Given the description of an element on the screen output the (x, y) to click on. 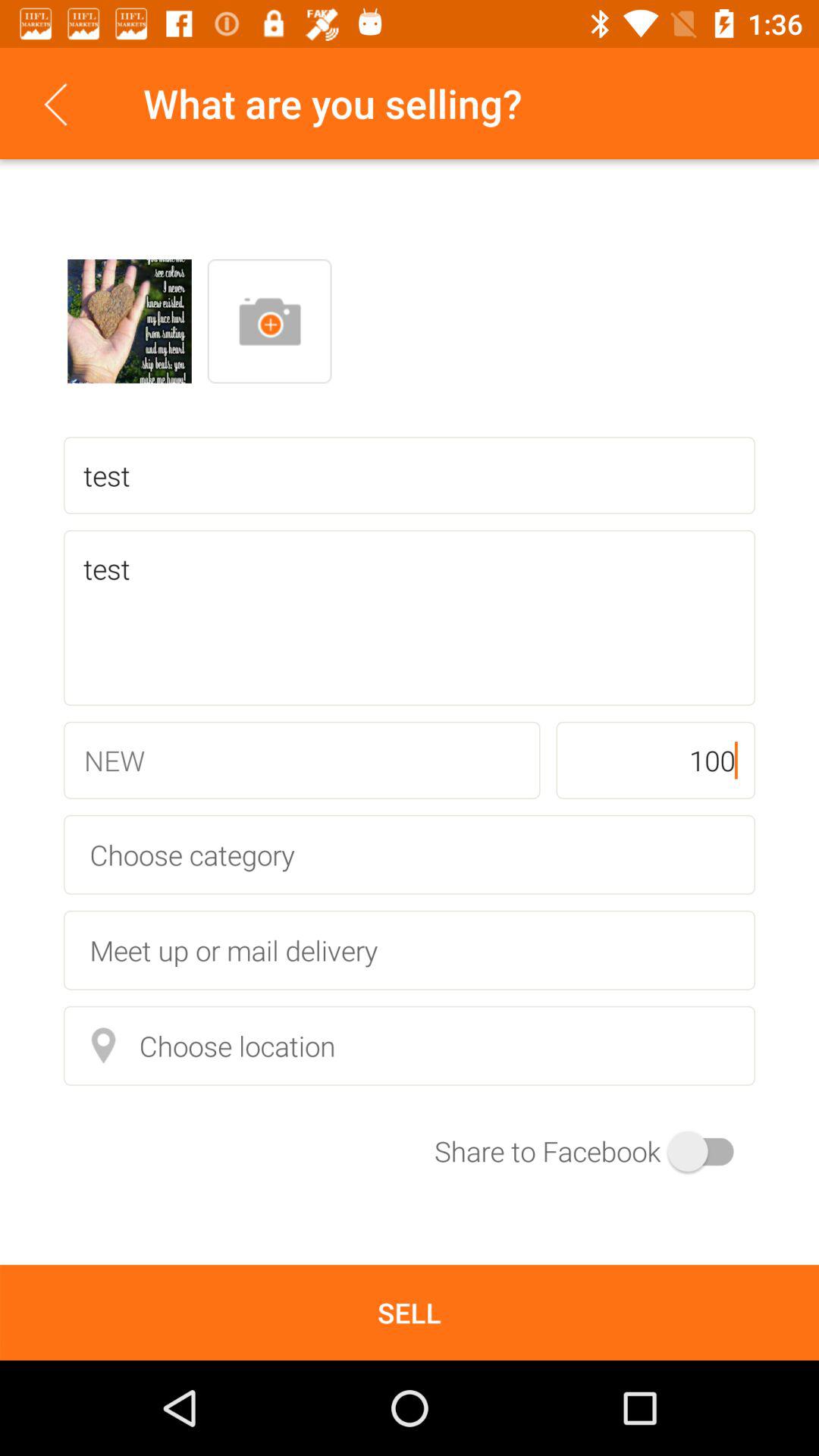
turn off 100 (655, 760)
